Given the description of an element on the screen output the (x, y) to click on. 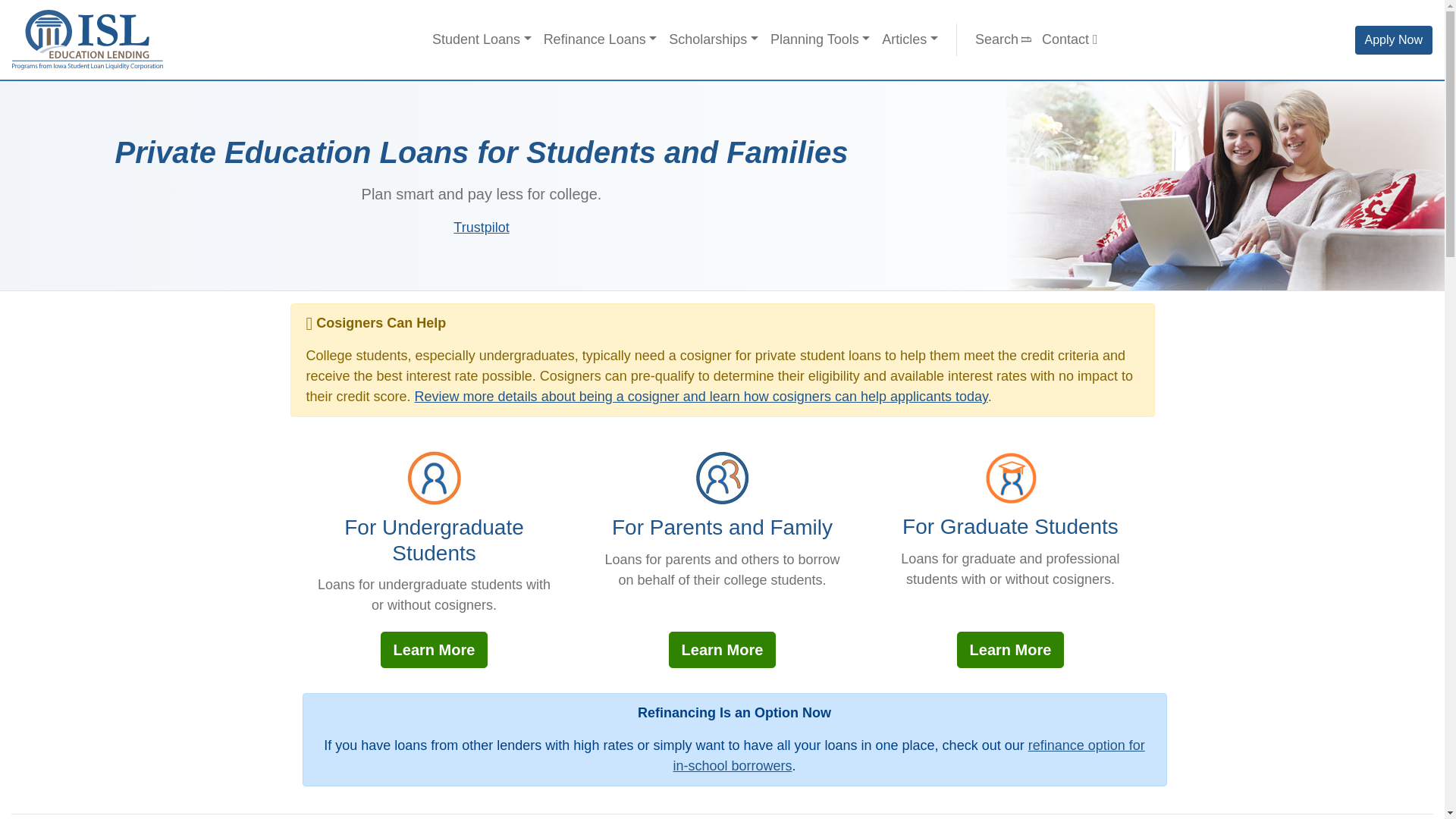
Articles (909, 39)
Student Loans (481, 39)
Contact (1069, 39)
Search (1002, 39)
Refinance Loans (600, 39)
Scholarships (713, 39)
Planning Tools (820, 39)
Trustpilot (480, 227)
Apply Now (1393, 39)
